Given the description of an element on the screen output the (x, y) to click on. 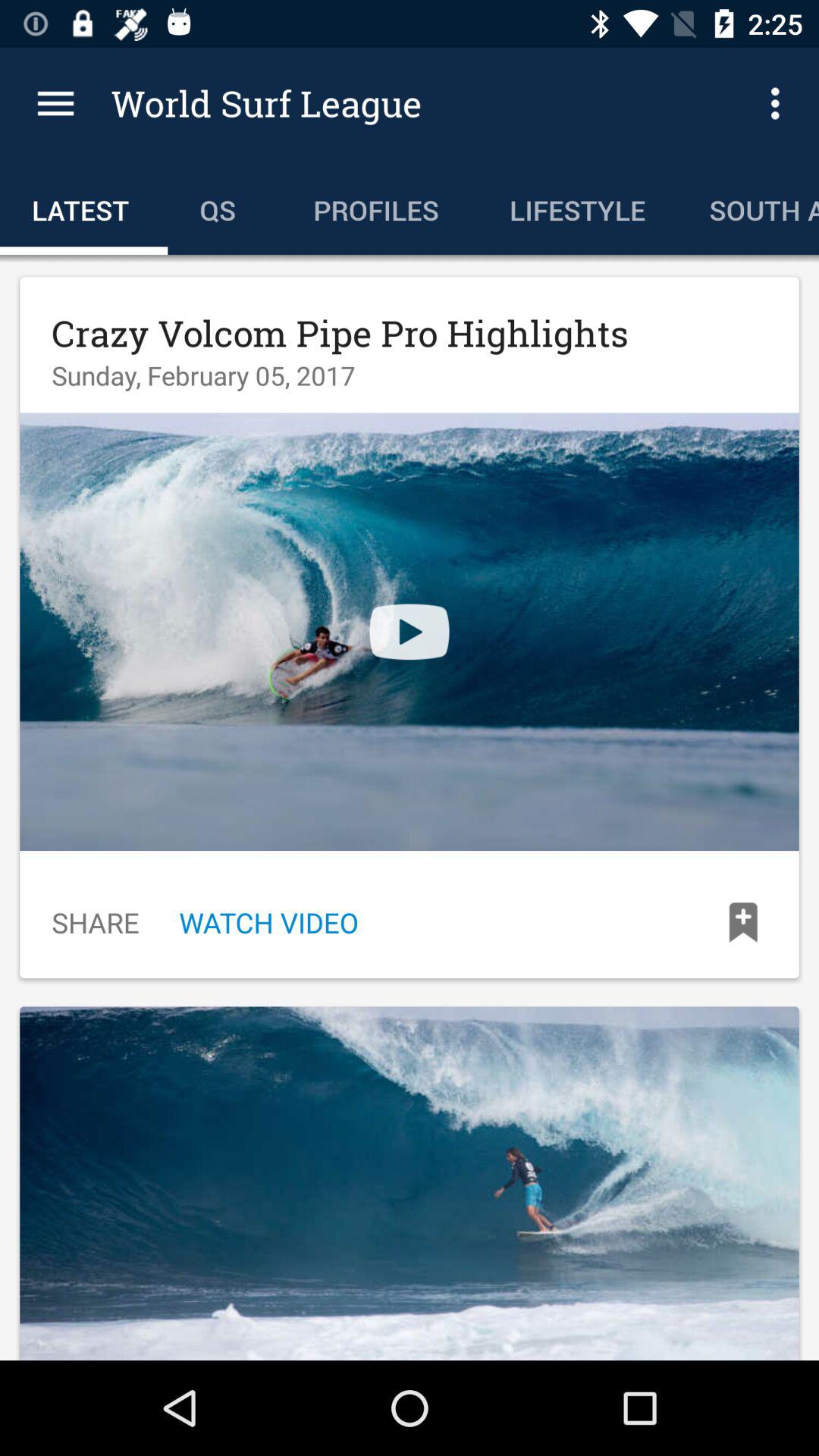
select the item to the left of the qs (83, 206)
